Given the description of an element on the screen output the (x, y) to click on. 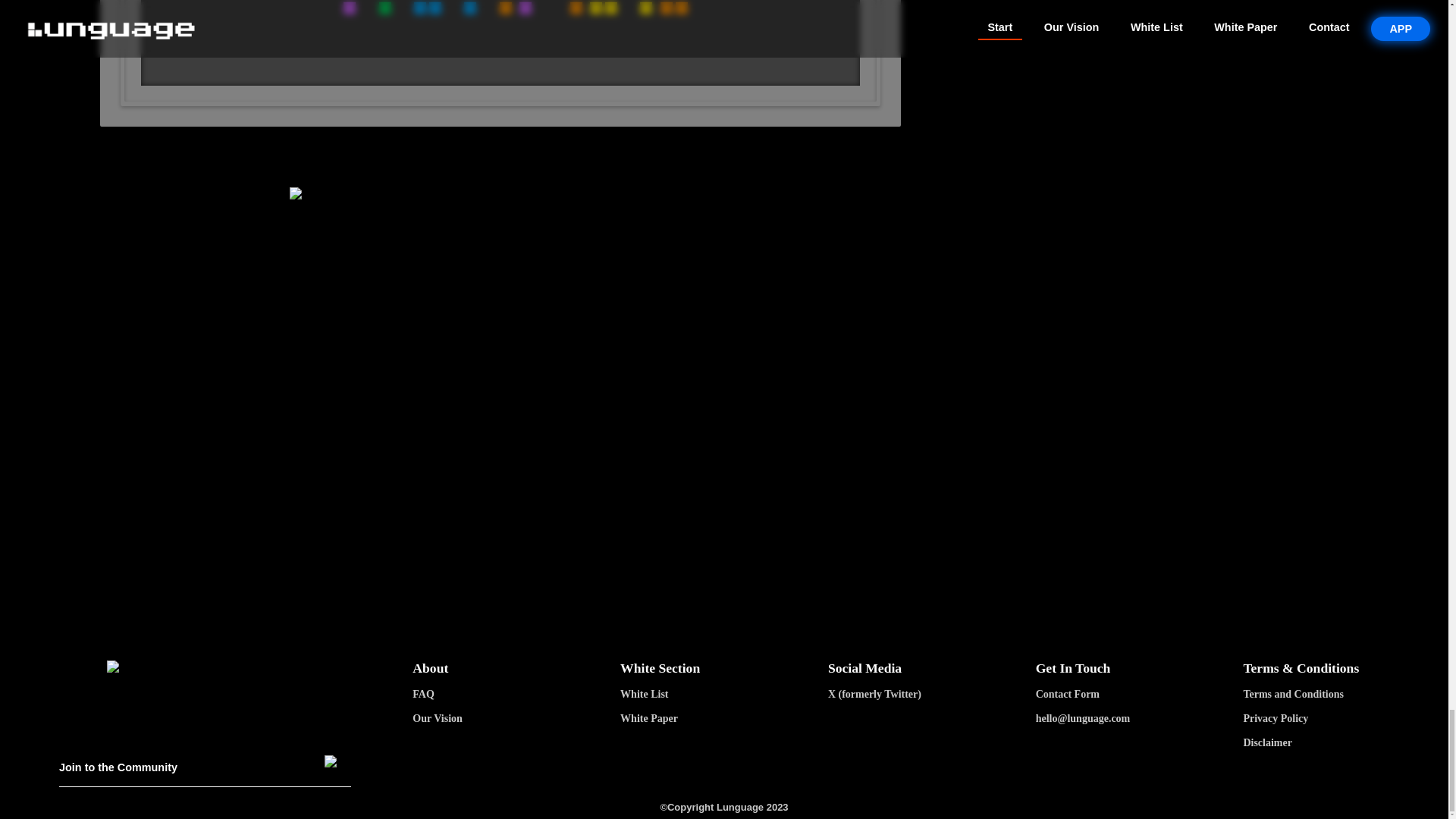
Terms and Conditions (1344, 694)
Contact Form (1137, 694)
Our Vision (513, 718)
Disclaimer (1344, 743)
Privacy Policy (1344, 718)
White Paper (721, 718)
White List (721, 694)
FAQ (513, 694)
